Given the description of an element on the screen output the (x, y) to click on. 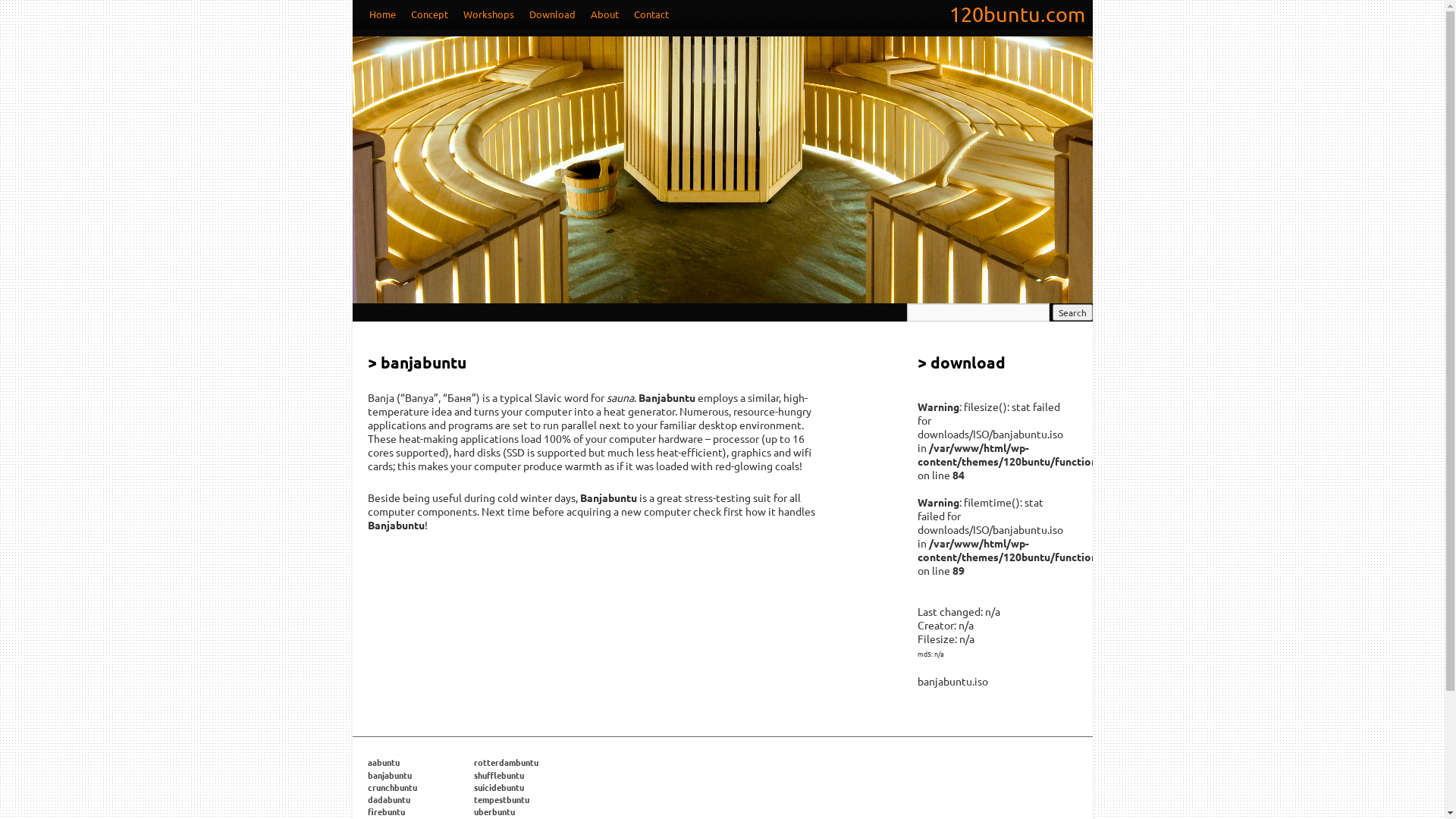
crunchbuntu Element type: text (391, 787)
rotterdambuntu Element type: text (505, 762)
Concept Element type: text (429, 14)
Contact Element type: text (651, 14)
firebuntu Element type: text (385, 811)
suicidebuntu Element type: text (498, 787)
uberbuntu Element type: text (493, 811)
tempestbuntu Element type: text (500, 799)
Workshops Element type: text (487, 14)
120buntu.com Element type: text (1016, 14)
Download Element type: text (552, 14)
Home Element type: text (381, 14)
shufflebuntu Element type: text (498, 774)
About Element type: text (603, 14)
Search Element type: text (1072, 312)
aabuntu Element type: text (382, 762)
dadabuntu Element type: text (388, 799)
banjabuntu Element type: text (389, 774)
